Given the description of an element on the screen output the (x, y) to click on. 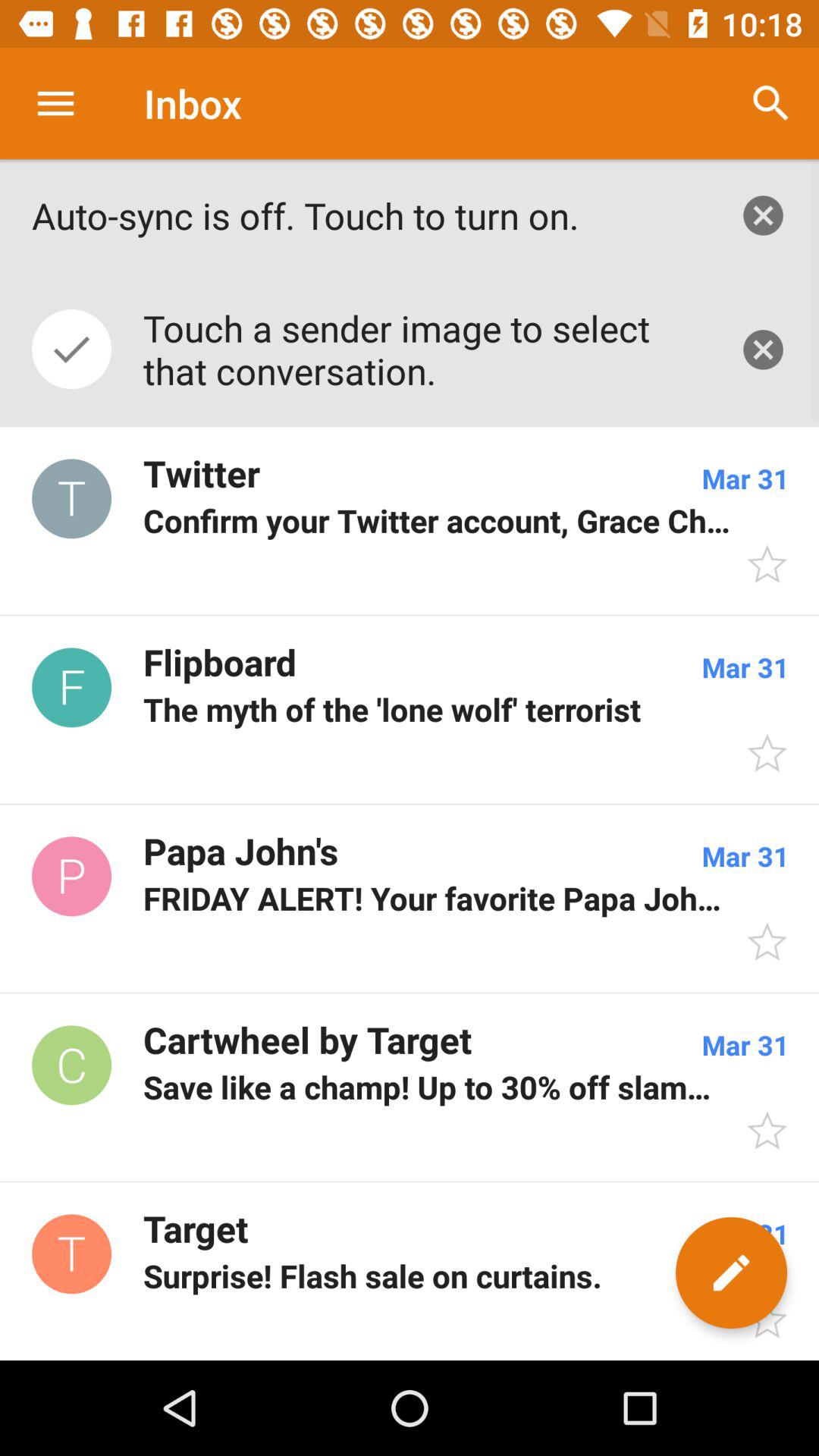
choose the item to the right of auto sync is item (771, 103)
